Given the description of an element on the screen output the (x, y) to click on. 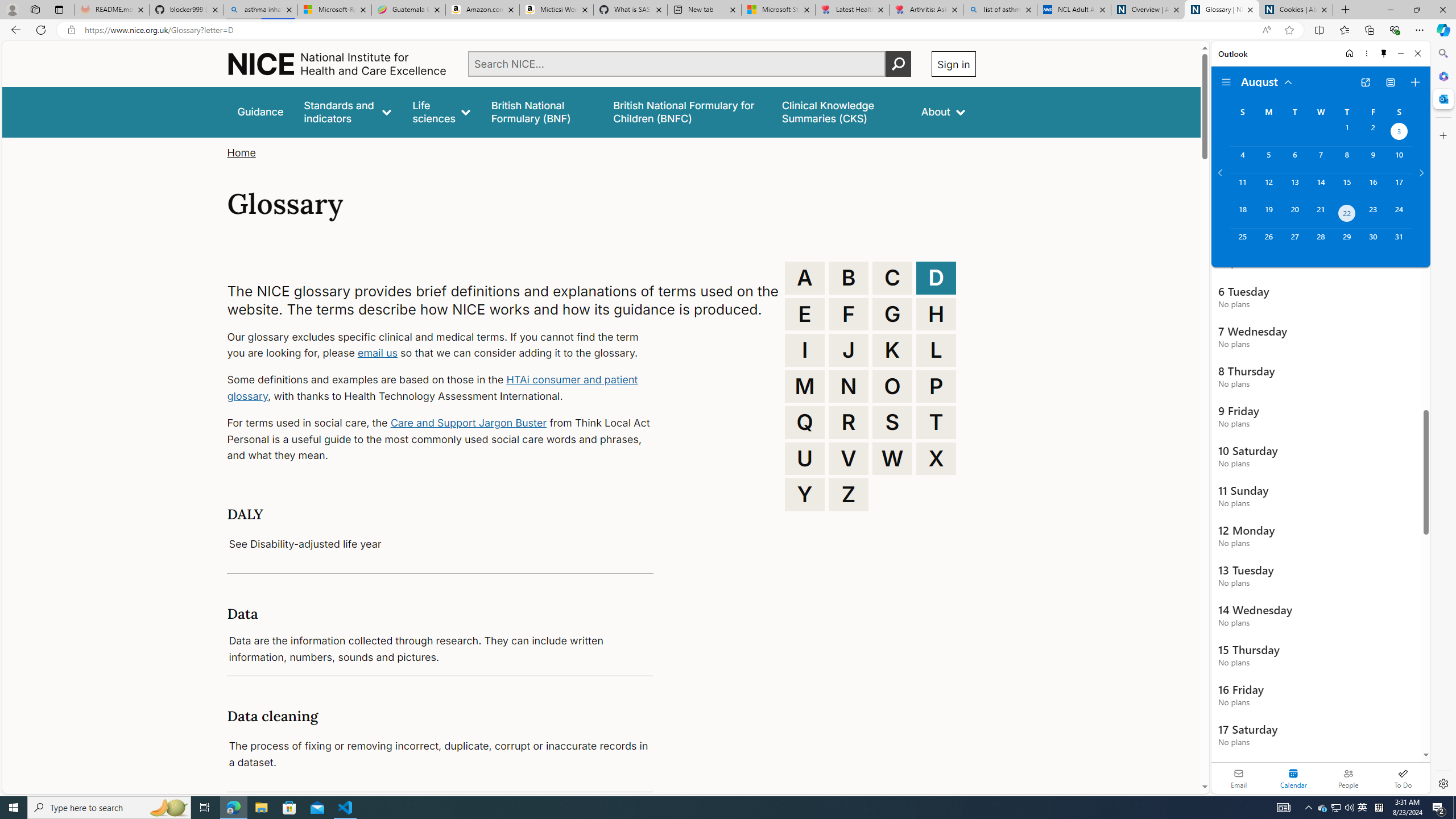
E (804, 313)
W (892, 458)
Selected calendar module. Date today is 22 (1293, 777)
R (848, 422)
Address and search bar (669, 29)
D (935, 277)
Microsoft Start (777, 9)
Refresh (40, 29)
Q (804, 422)
S (892, 422)
Saturday, August 24, 2024.  (1399, 214)
W (892, 458)
